Given the description of an element on the screen output the (x, y) to click on. 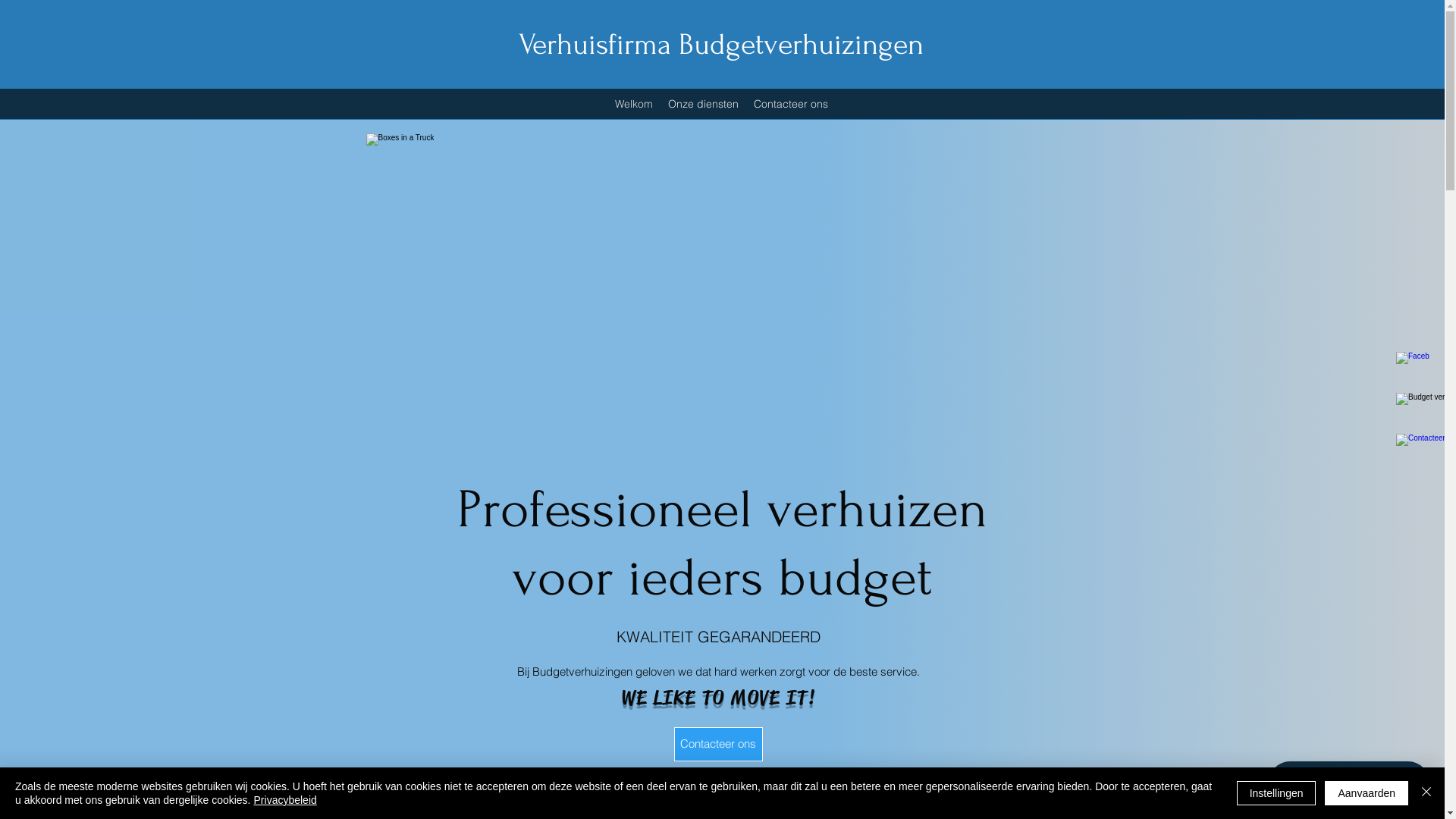
Aanvaarden Element type: text (1366, 793)
Privacybeleid Element type: text (285, 799)
Instellingen Element type: text (1276, 793)
Contacteer ons Element type: text (790, 103)
Welkom Element type: text (633, 103)
Verhuisfirma Budgetverhuizingen Element type: text (720, 44)
Contacteer ons Element type: text (717, 744)
Onze diensten Element type: text (703, 103)
